Given the description of an element on the screen output the (x, y) to click on. 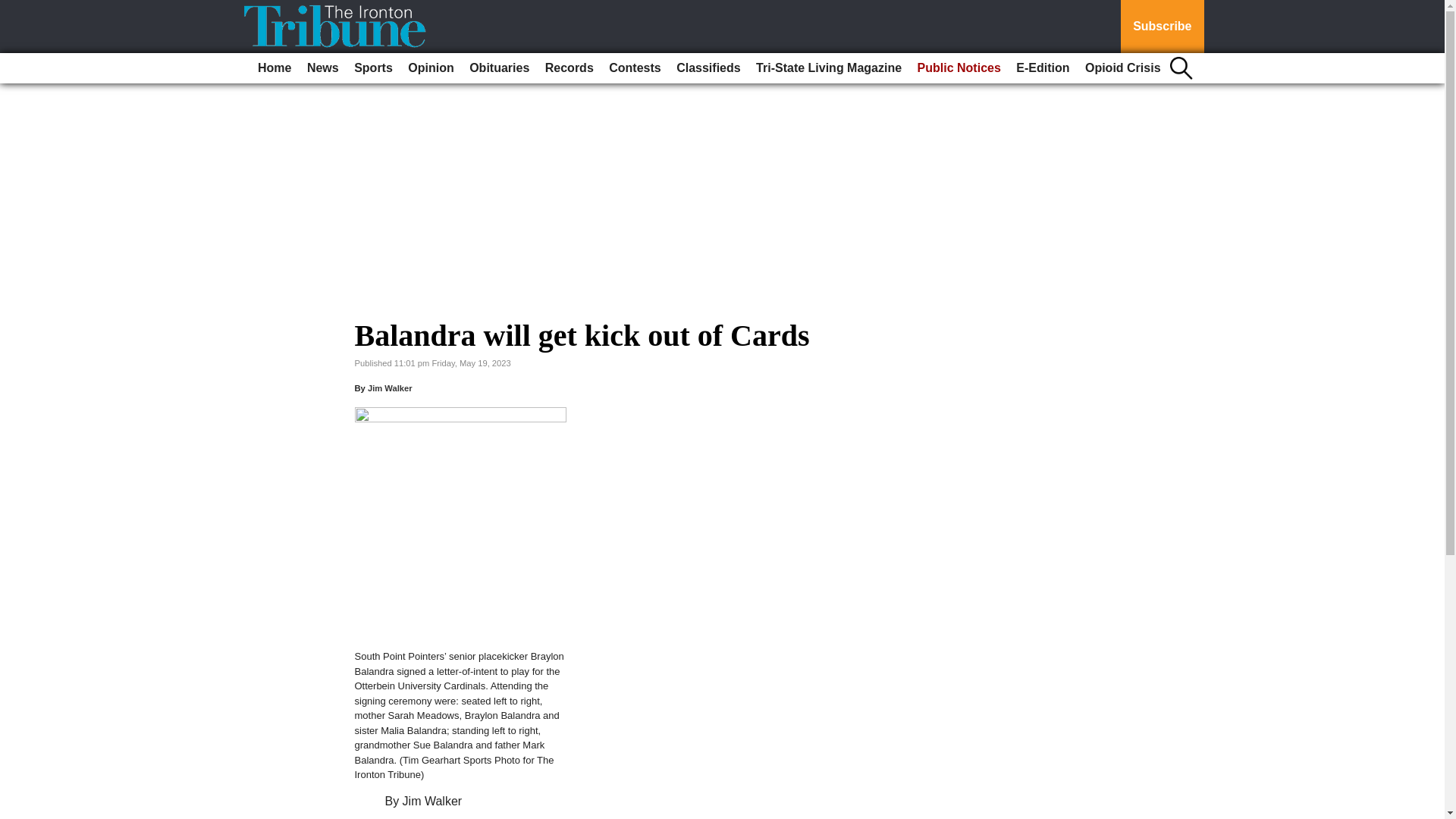
Home (274, 68)
Public Notices (959, 68)
Jim Walker (390, 388)
Classifieds (707, 68)
Sports (372, 68)
Contests (634, 68)
News (323, 68)
E-Edition (1042, 68)
Opioid Crisis (1122, 68)
Obituaries (499, 68)
